Given the description of an element on the screen output the (x, y) to click on. 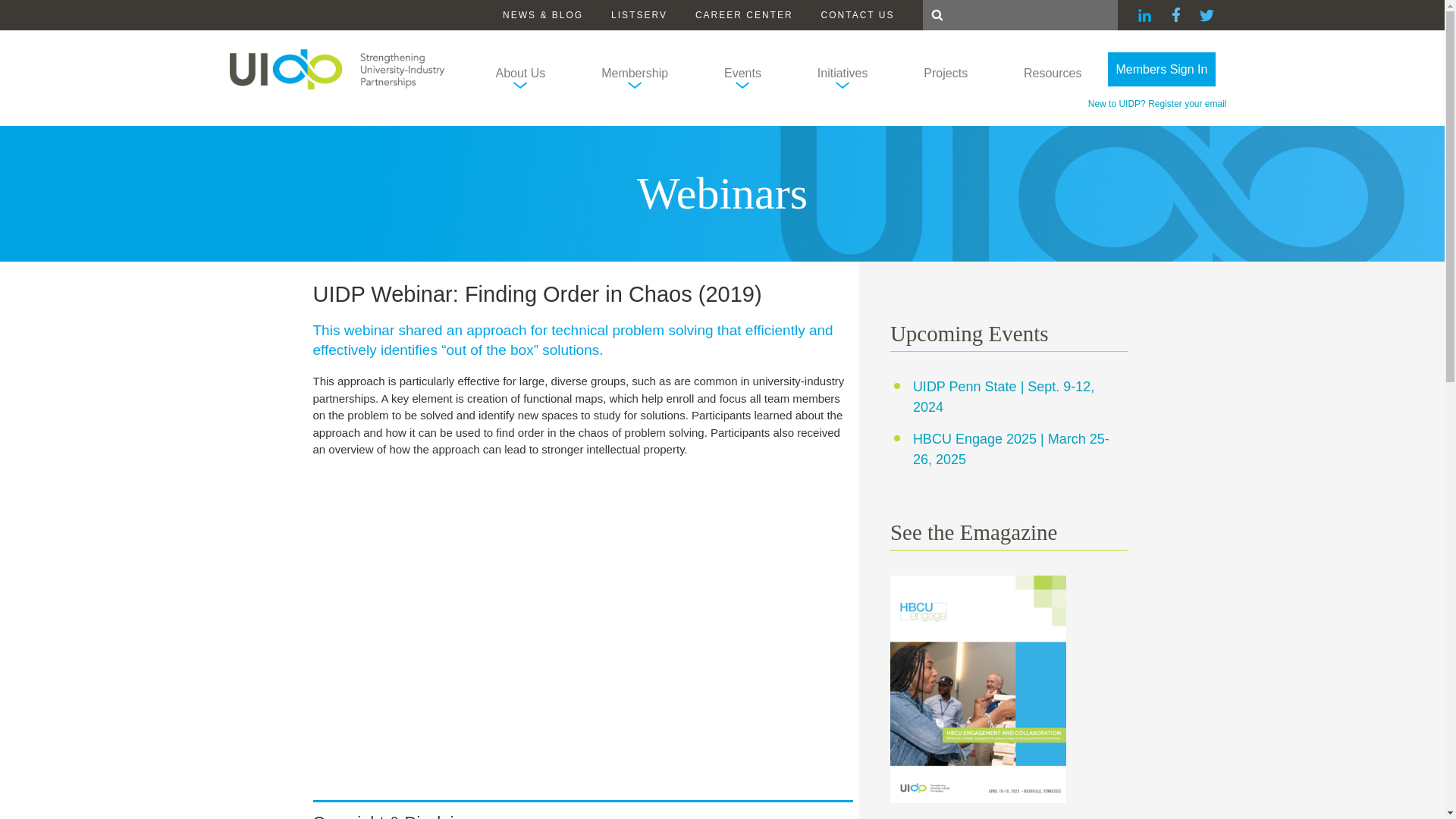
Membership (634, 77)
CAREER CENTER (744, 15)
Events (742, 77)
About Us (521, 77)
UIDP (336, 69)
CONTACT US (858, 15)
LISTSERV (638, 15)
